Given the description of an element on the screen output the (x, y) to click on. 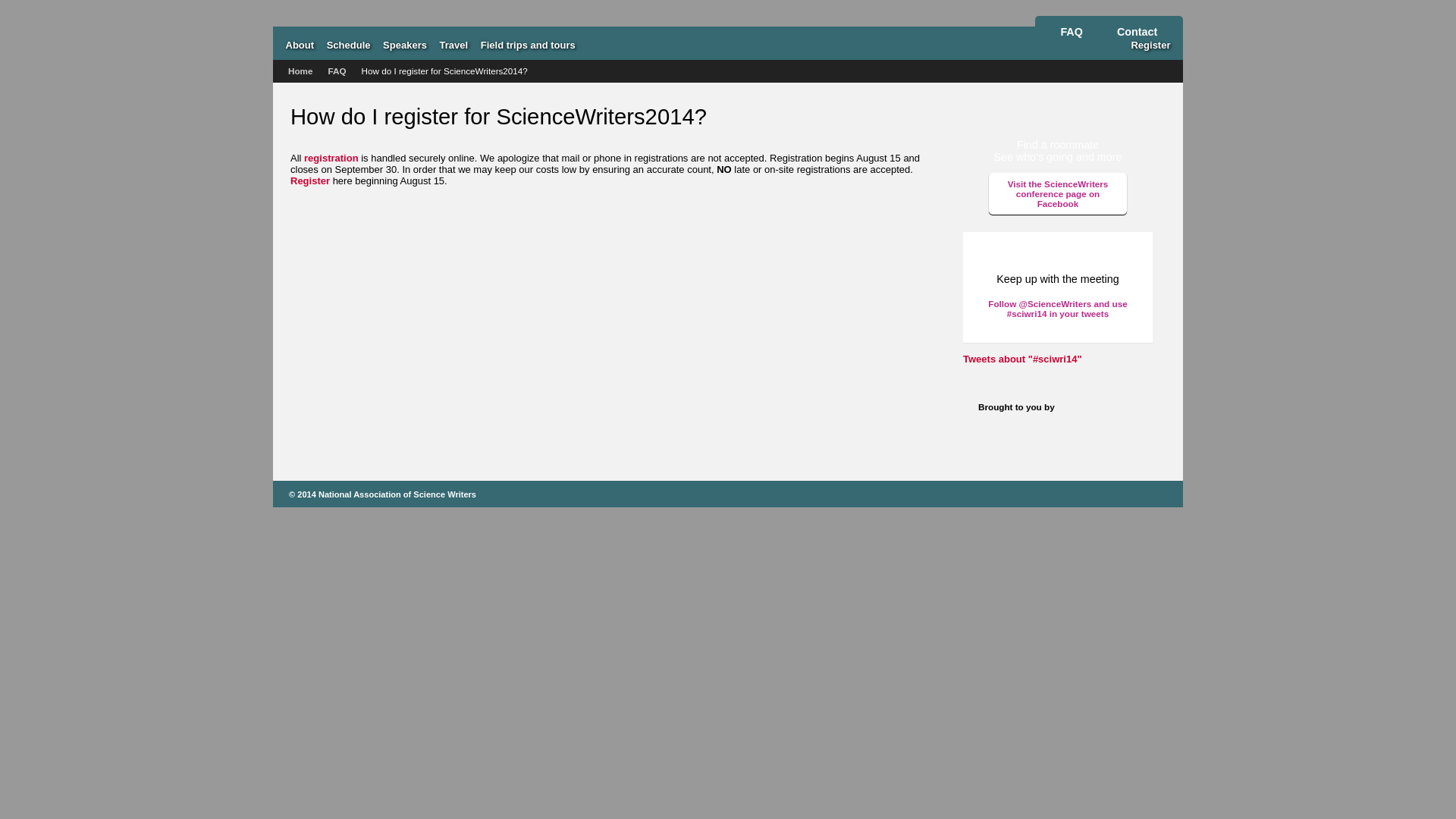
About (299, 43)
Home (300, 70)
Register (1149, 43)
Speakers (405, 43)
Travel (453, 43)
Field trips and tours (527, 43)
Contact (1137, 31)
Visit the ScienceWriters conference page on Facebook (1057, 193)
FAQ (1071, 31)
